Given the description of an element on the screen output the (x, y) to click on. 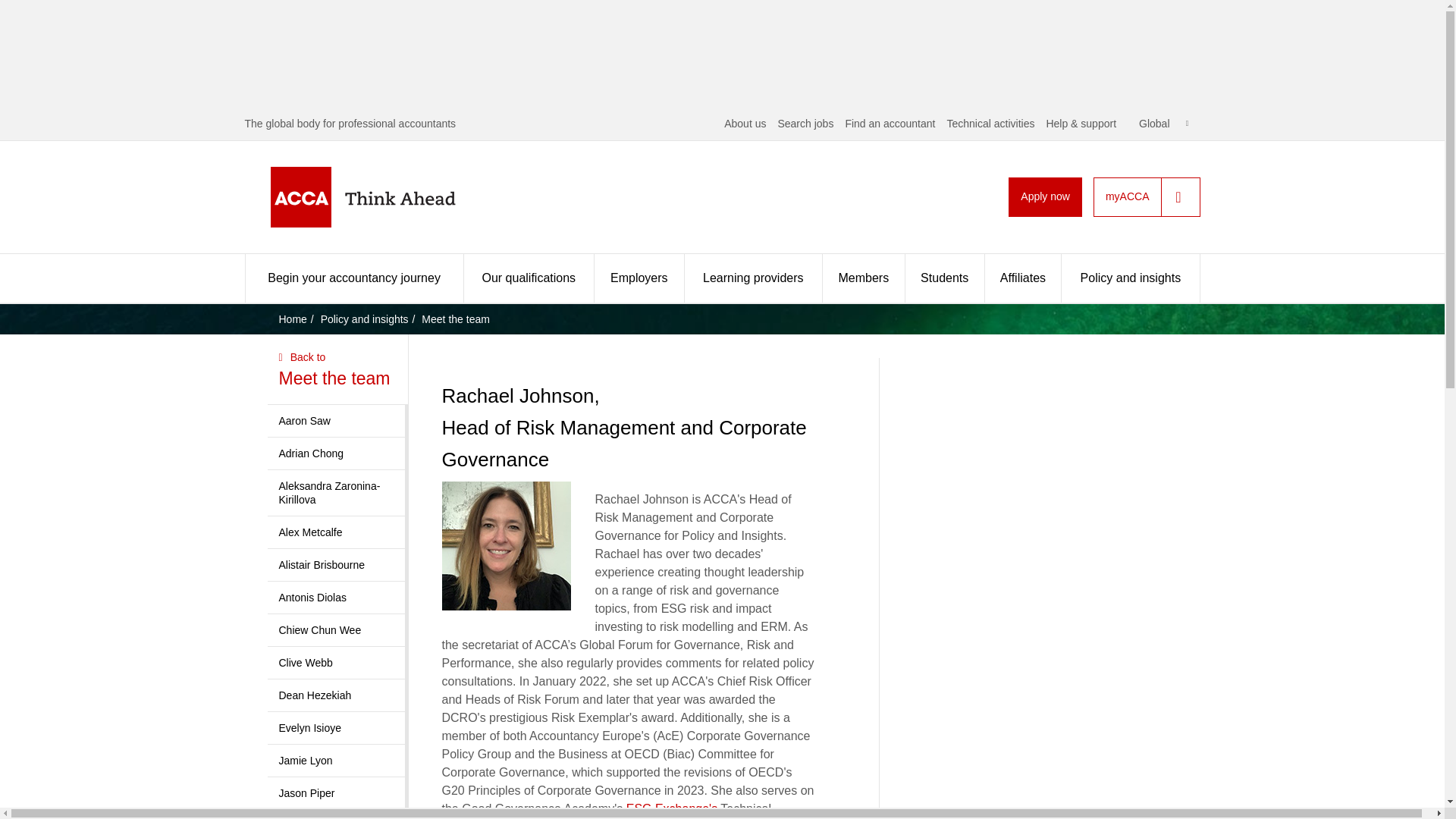
Global (1162, 123)
Global (1162, 123)
Technical activities (989, 123)
Search jobs (804, 123)
Find an accountant (889, 123)
Rachael Johnson (505, 545)
About us (744, 123)
Home (387, 197)
